Given the description of an element on the screen output the (x, y) to click on. 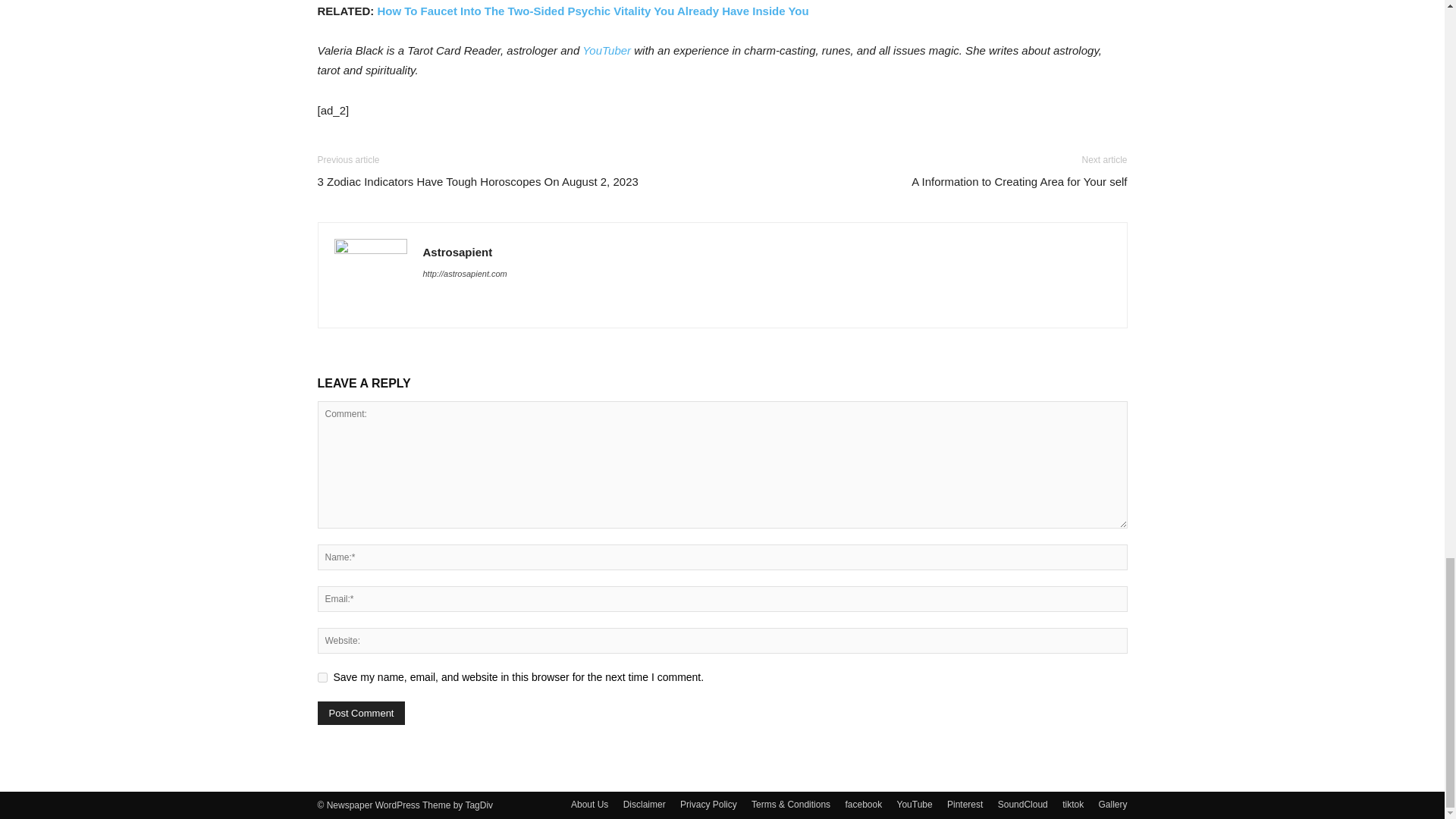
A Information to Creating Area for Your self (1018, 181)
Post Comment (360, 712)
3 Zodiac Indicators Have Tough Horoscopes On August 2, 2023 (477, 181)
tiktok (1072, 804)
Post Comment (360, 712)
Privacy Policy (707, 804)
SoundCloud (1022, 804)
Gallery (1111, 804)
YouTuber (606, 50)
yes (321, 677)
Pinterest (964, 804)
Disclaimer (644, 804)
Astrosapient (458, 251)
About Us (589, 804)
YouTube (914, 804)
